Given the description of an element on the screen output the (x, y) to click on. 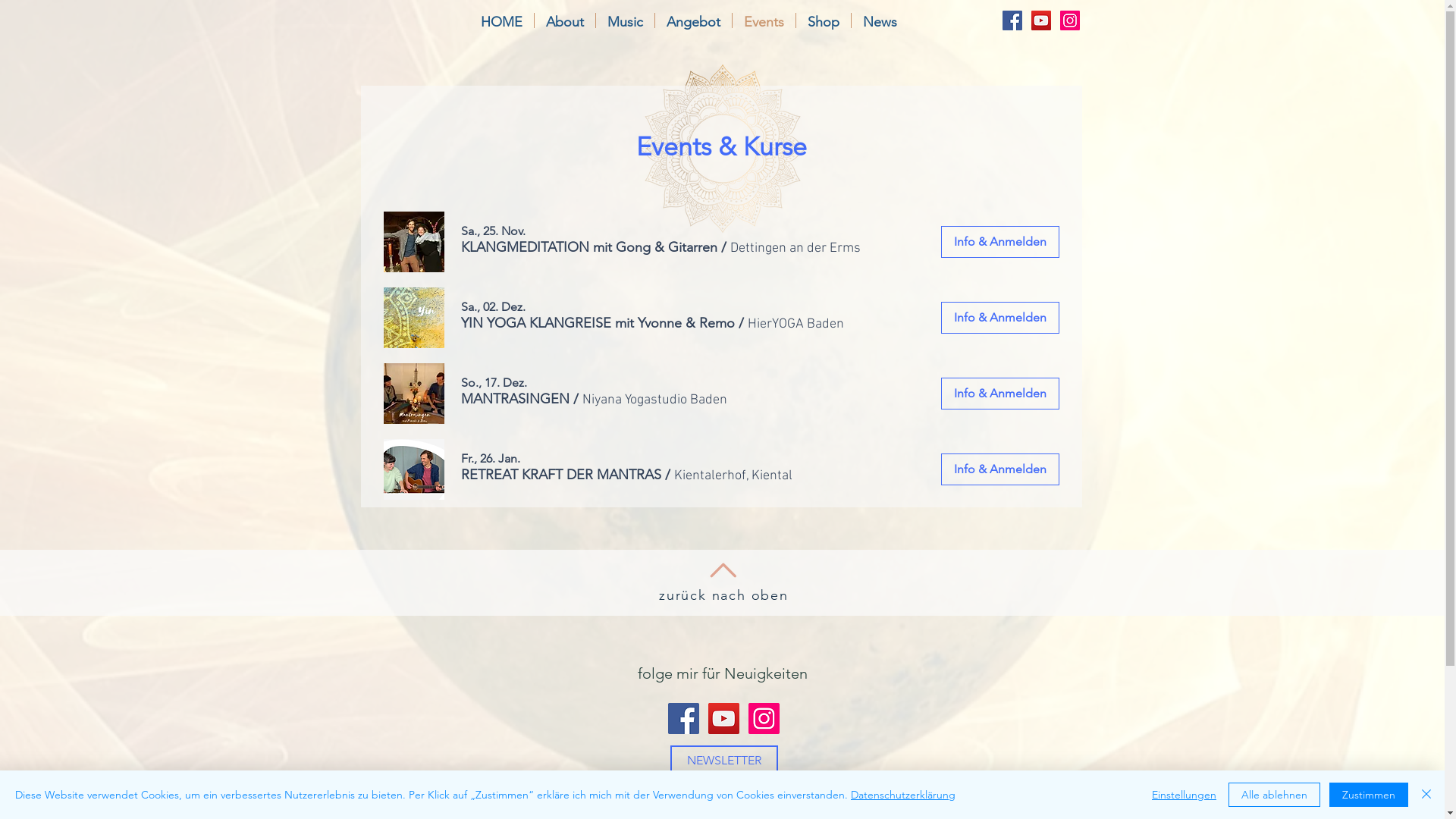
Zustimmen Element type: text (1368, 794)
So., 17. Dez.
MANTRASINGEN
 / 
Niyana Yogastudio Baden Element type: text (598, 392)
News Element type: text (878, 20)
Shop Element type: text (823, 20)
Info & Anmelden Element type: text (999, 393)
Info & Anmelden Element type: text (999, 469)
NEWSLETTER Element type: text (724, 760)
Info & Anmelden Element type: text (999, 317)
Events Element type: text (763, 20)
Info & Anmelden Element type: text (999, 241)
Alle ablehnen Element type: text (1274, 794)
HOME Element type: text (500, 20)
